Given the description of an element on the screen output the (x, y) to click on. 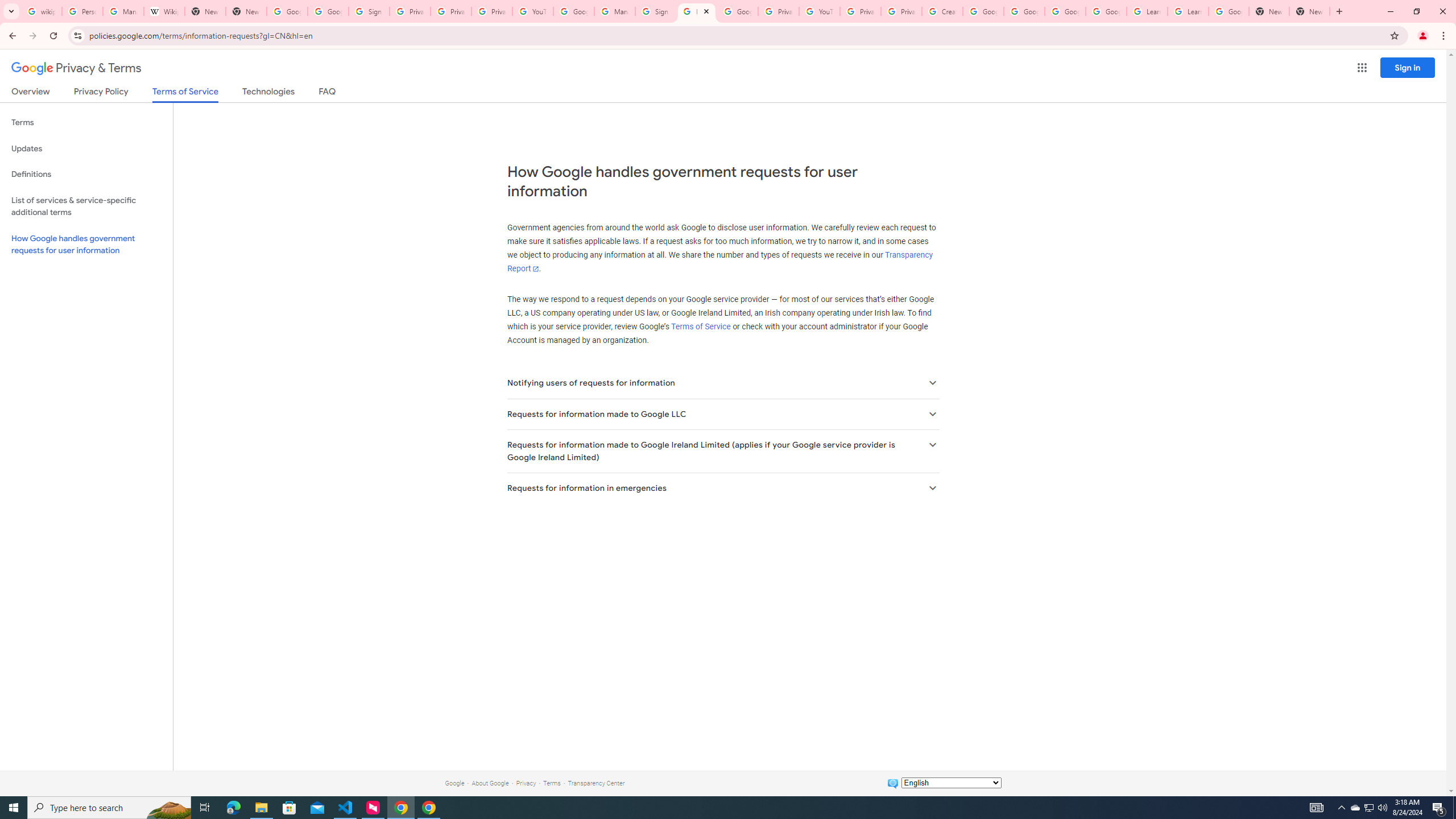
Notifying users of requests for information (722, 382)
Manage your Location History - Google Search Help (122, 11)
Sign in - Google Accounts (368, 11)
Wikipedia:Edit requests - Wikipedia (163, 11)
